Given the description of an element on the screen output the (x, y) to click on. 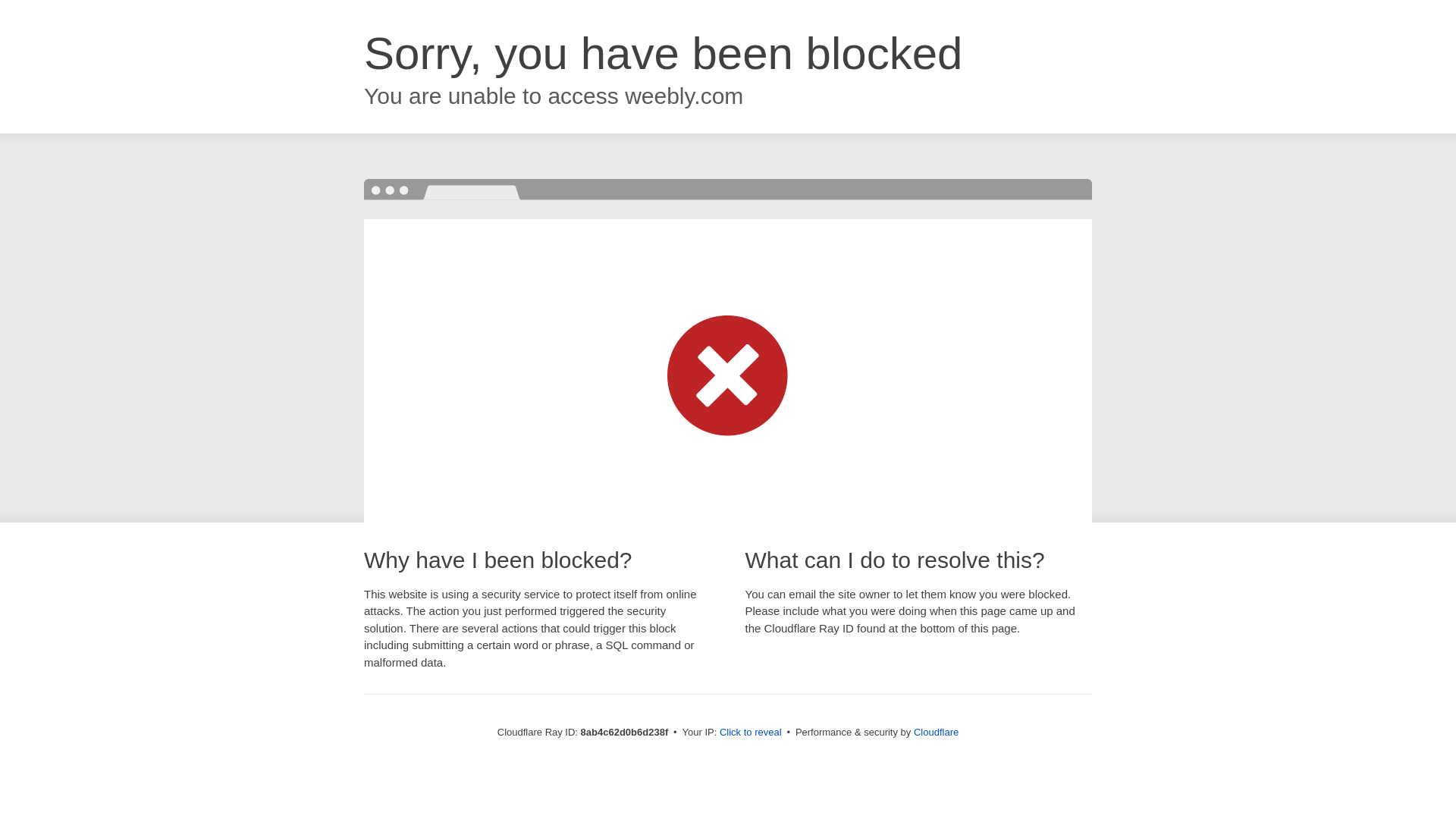
Cloudflare (936, 731)
Click to reveal (750, 732)
